Given the description of an element on the screen output the (x, y) to click on. 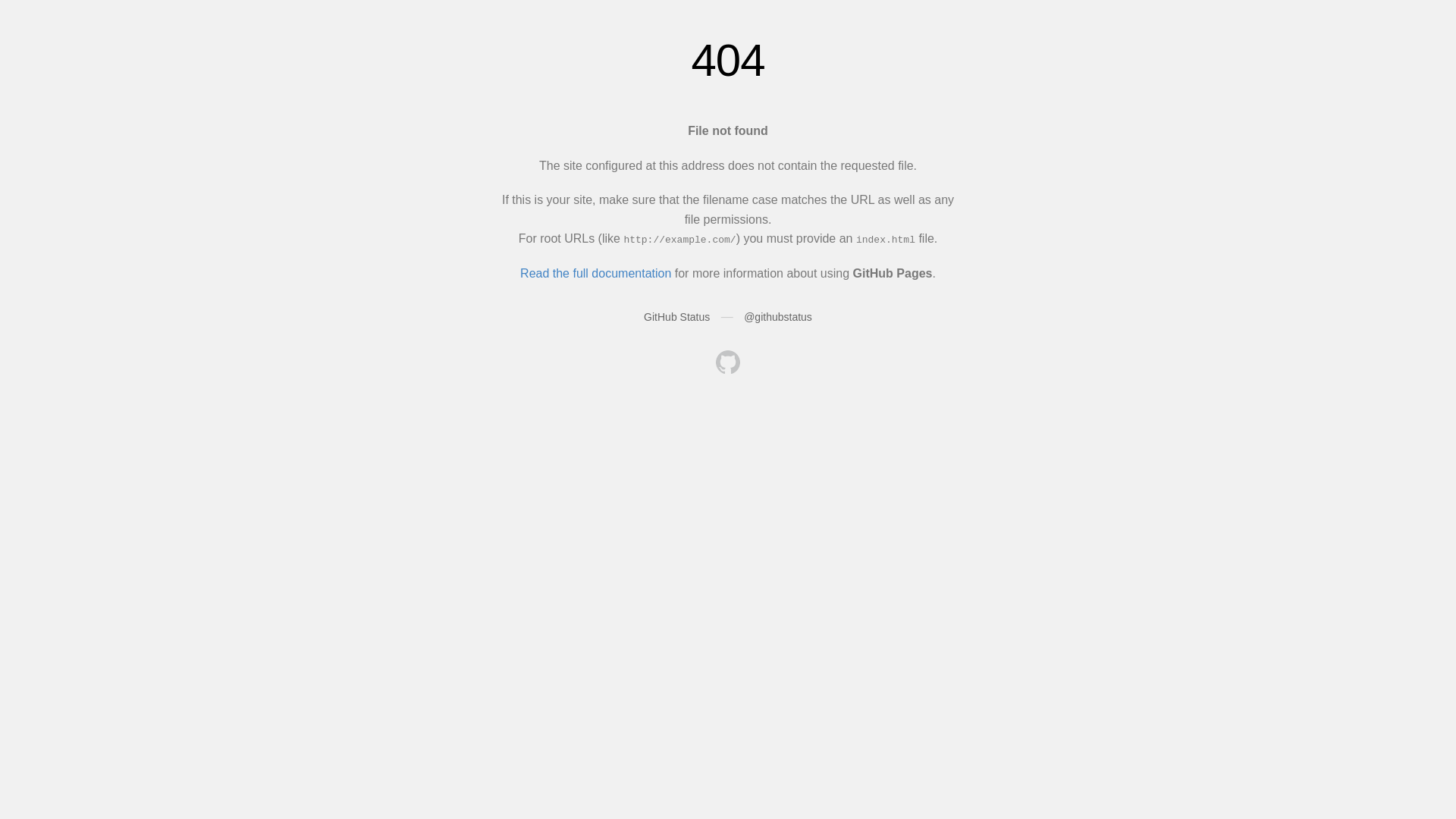
GitHub Status Element type: text (676, 316)
@githubstatus Element type: text (777, 316)
Read the full documentation Element type: text (595, 272)
